Given the description of an element on the screen output the (x, y) to click on. 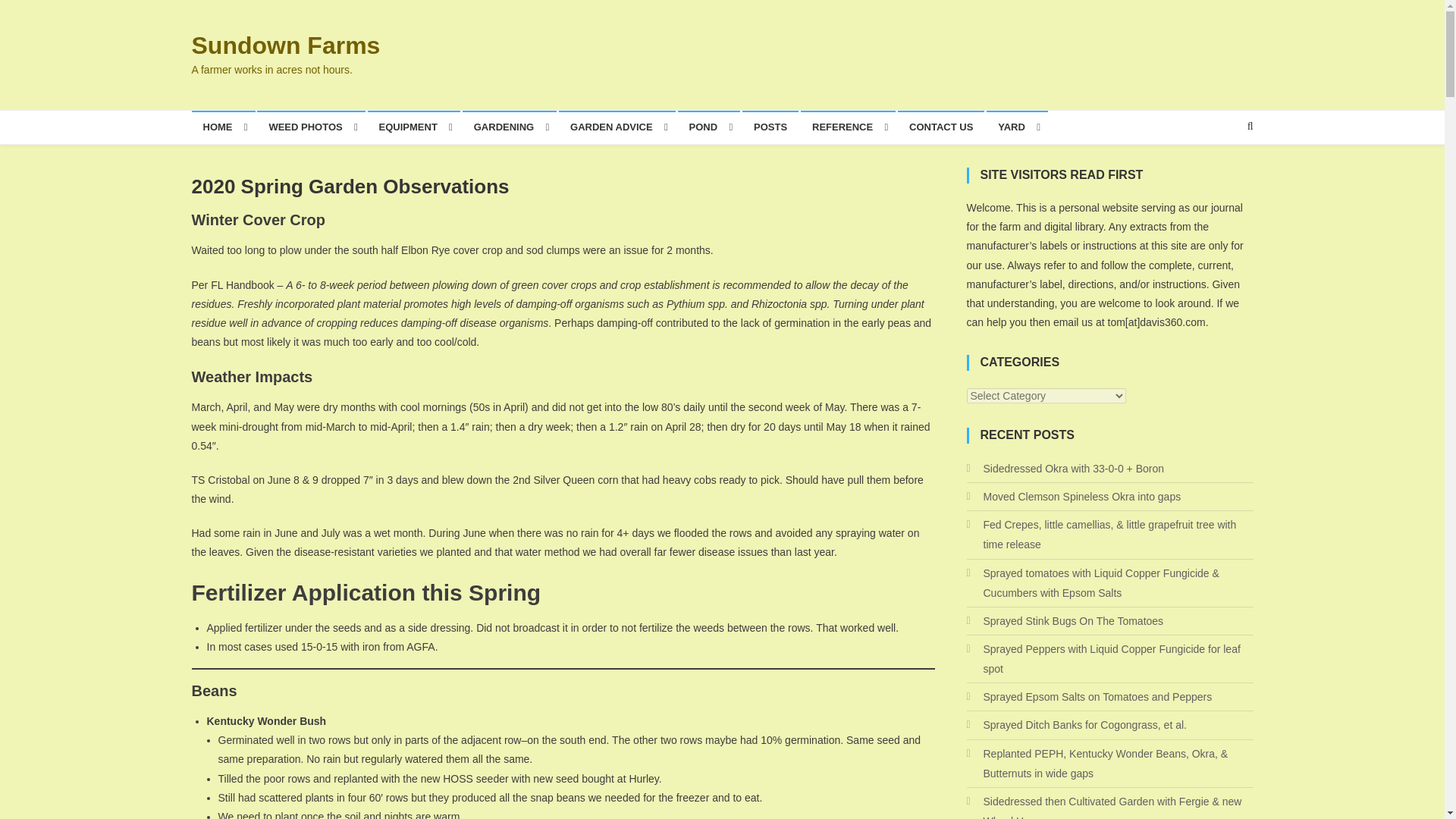
HOME (222, 127)
Sundown Farms (285, 44)
WEED PHOTOS (311, 127)
